Given the description of an element on the screen output the (x, y) to click on. 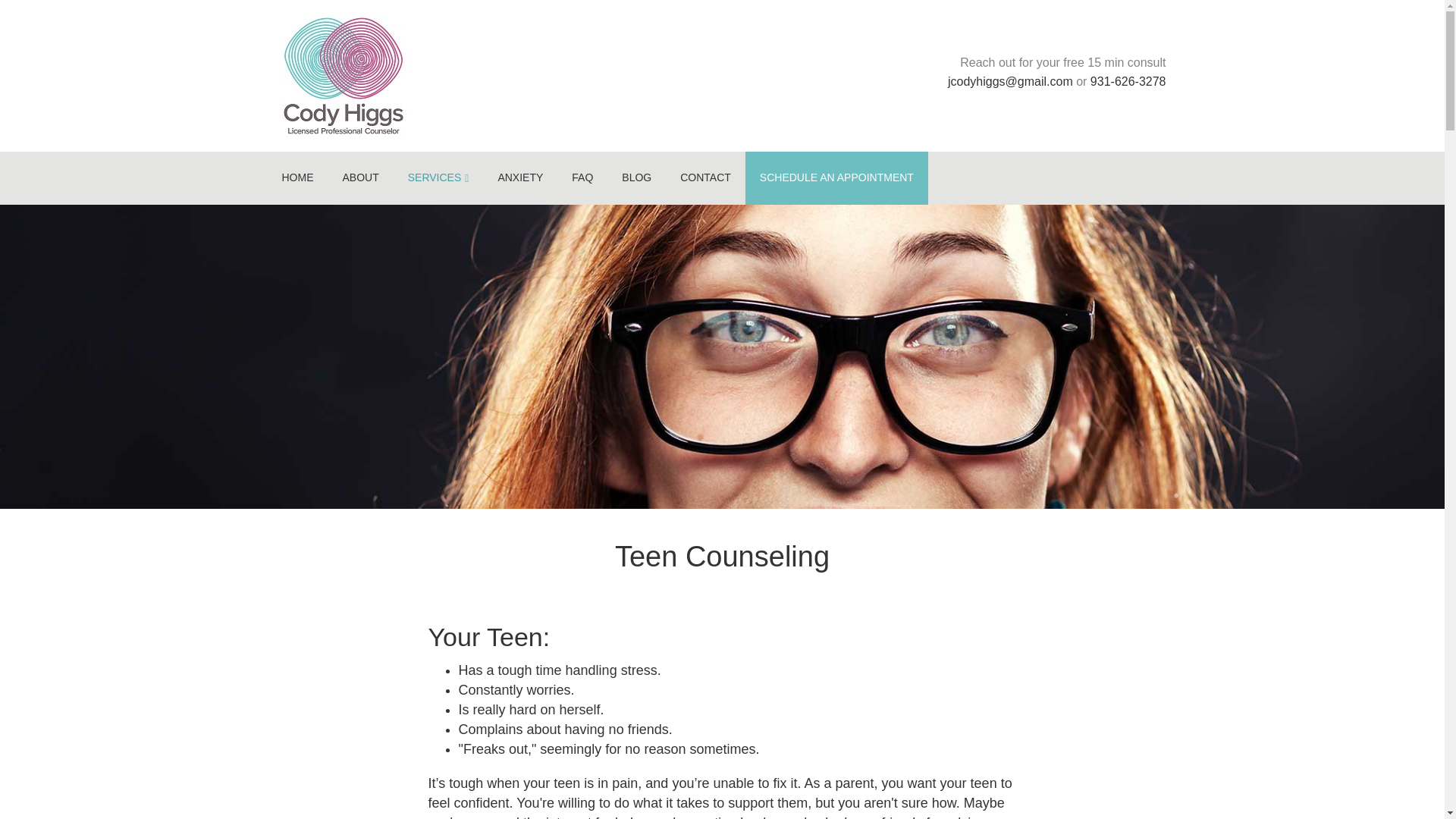
931-626-3278 (1128, 81)
BLOG (636, 177)
ANXIETY (520, 177)
CONTACT (705, 177)
ABOUT (360, 177)
FAQ (582, 177)
SCHEDULE AN APPOINTMENT (836, 177)
SERVICES (438, 177)
HOME (296, 177)
